Given the description of an element on the screen output the (x, y) to click on. 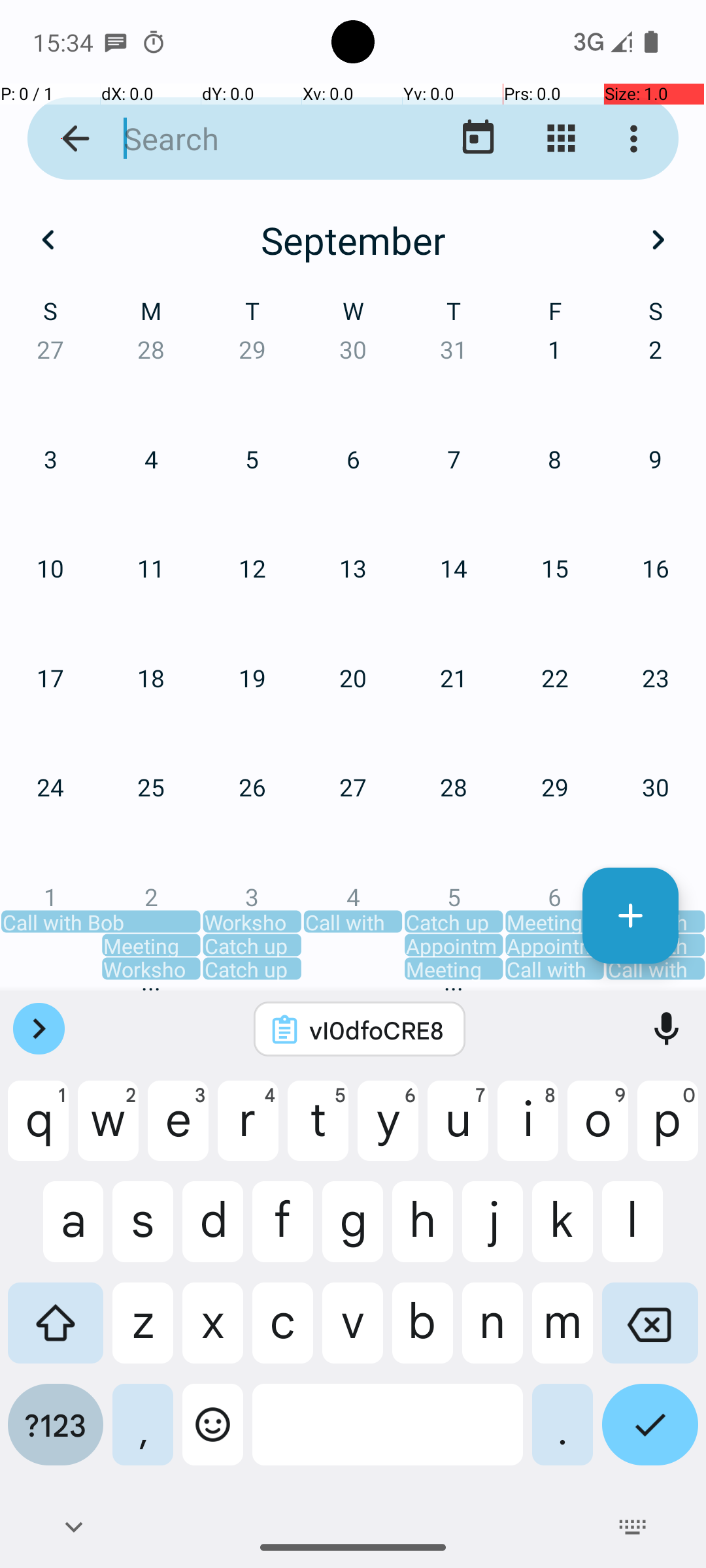
vI0dfoCRE8 Element type: android.widget.TextView (376, 1029)
